Given the description of an element on the screen output the (x, y) to click on. 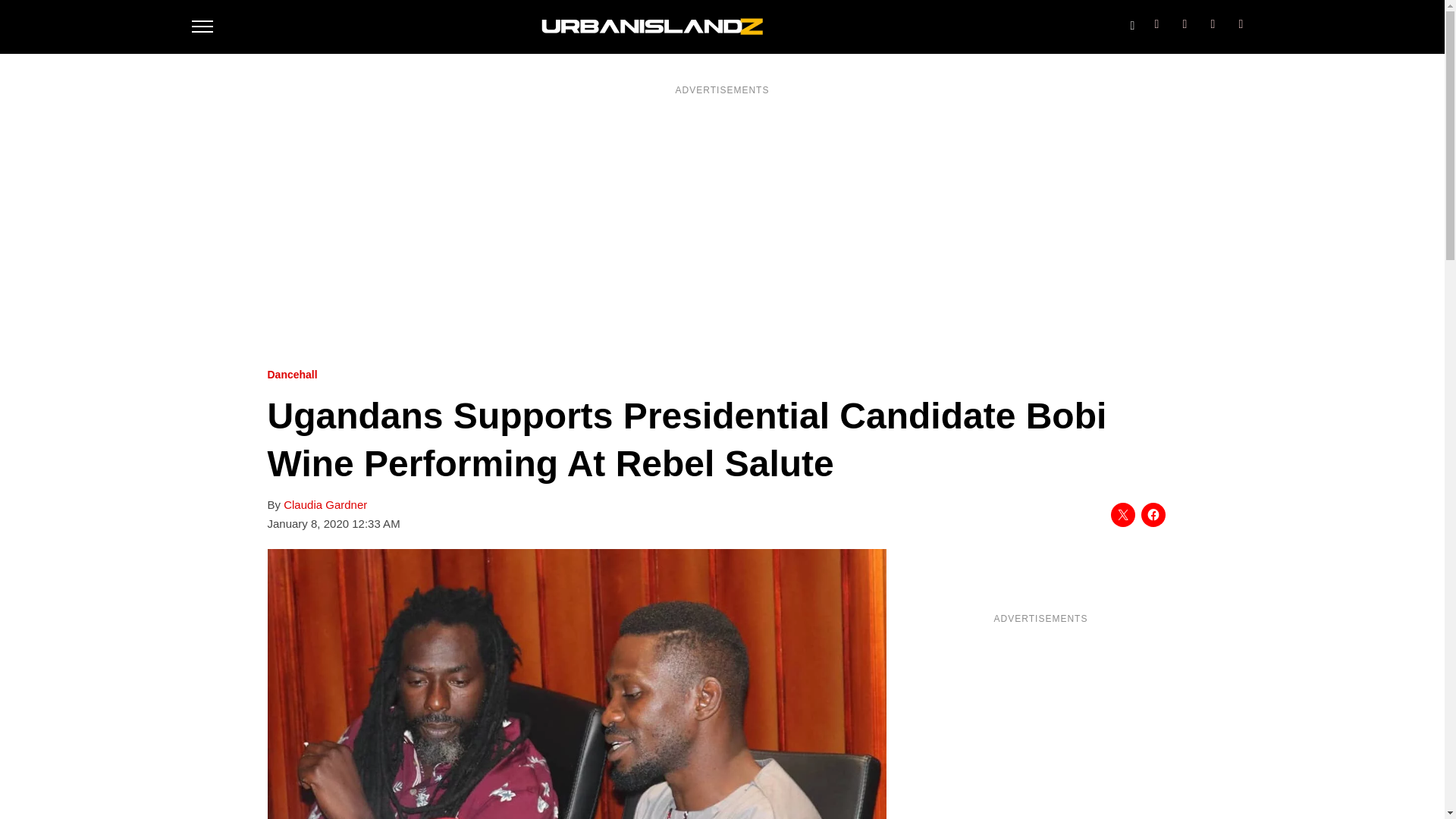
Advertisement (1039, 726)
Dancehall (291, 375)
Claudia Gardner (324, 504)
Click to share on Facebook (1152, 514)
Search (1131, 22)
Click to share on X (1121, 514)
Posts by Claudia Gardner (324, 504)
